Given the description of an element on the screen output the (x, y) to click on. 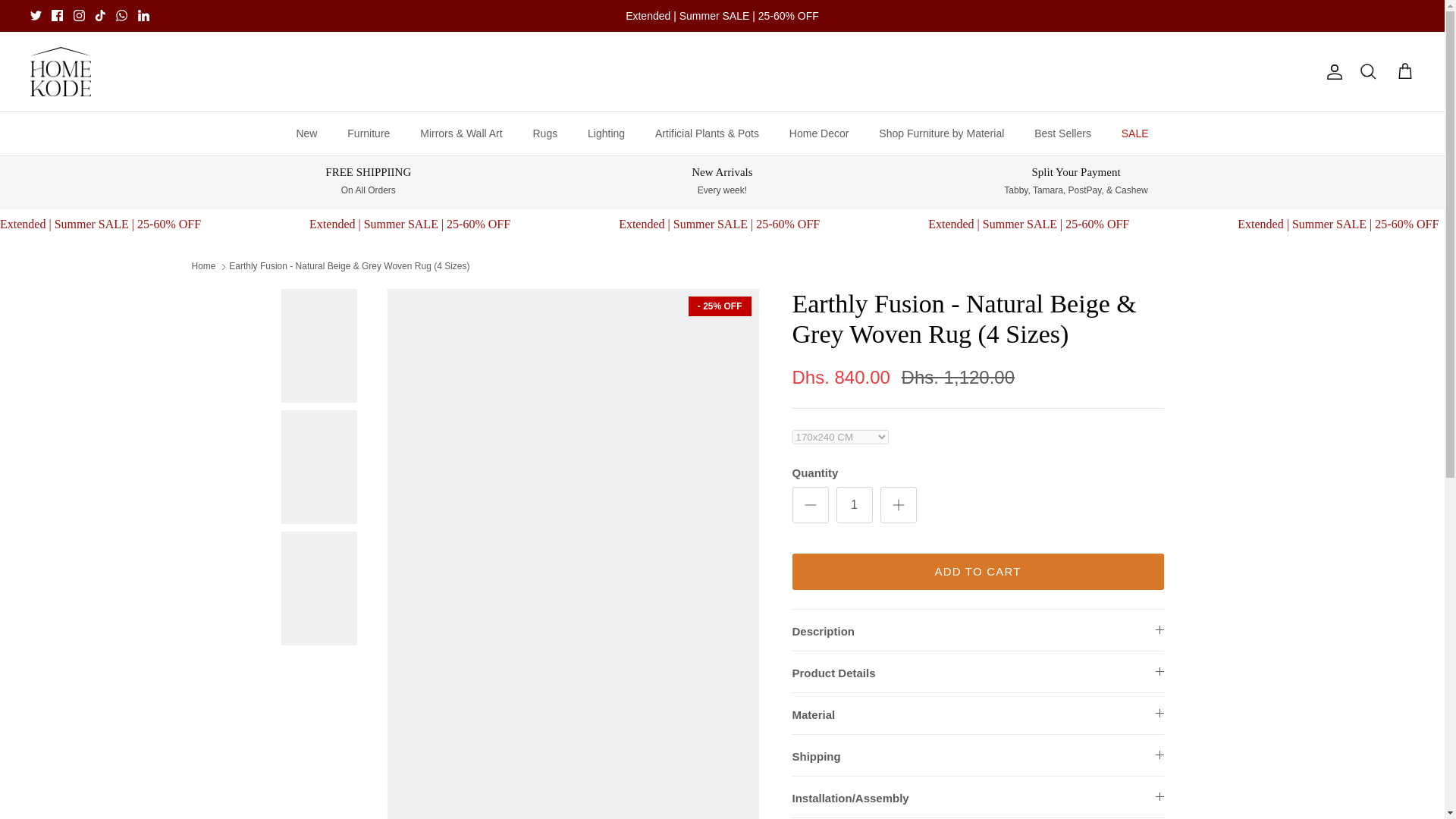
Facebook (56, 15)
Instagram (79, 15)
Cart (1404, 71)
Instagram (79, 15)
1 (853, 504)
Plus (897, 505)
New (306, 133)
Minus (809, 505)
Homekode (60, 71)
Account (1331, 72)
